Given the description of an element on the screen output the (x, y) to click on. 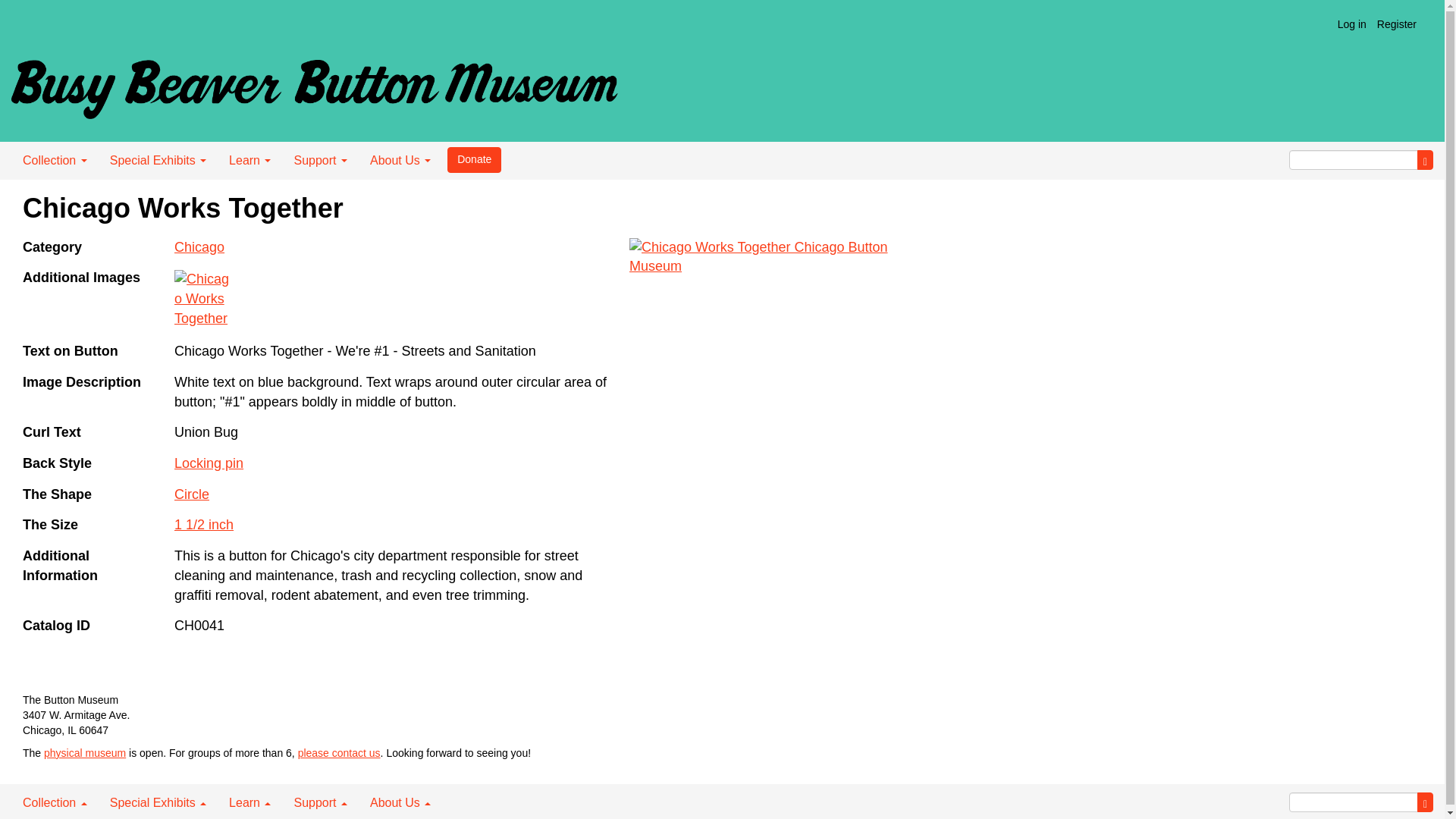
Home (314, 83)
Donate (473, 159)
Log in (1351, 23)
physical museum (84, 752)
Chicago Works Together  (761, 367)
Locking pin (208, 462)
Collection (55, 160)
Special Exhibits (157, 160)
Chicago Works Together button back  (204, 299)
Circle (191, 494)
Donate (473, 159)
please contact us (339, 752)
About Us (400, 160)
Chicago (199, 246)
